Given the description of an element on the screen output the (x, y) to click on. 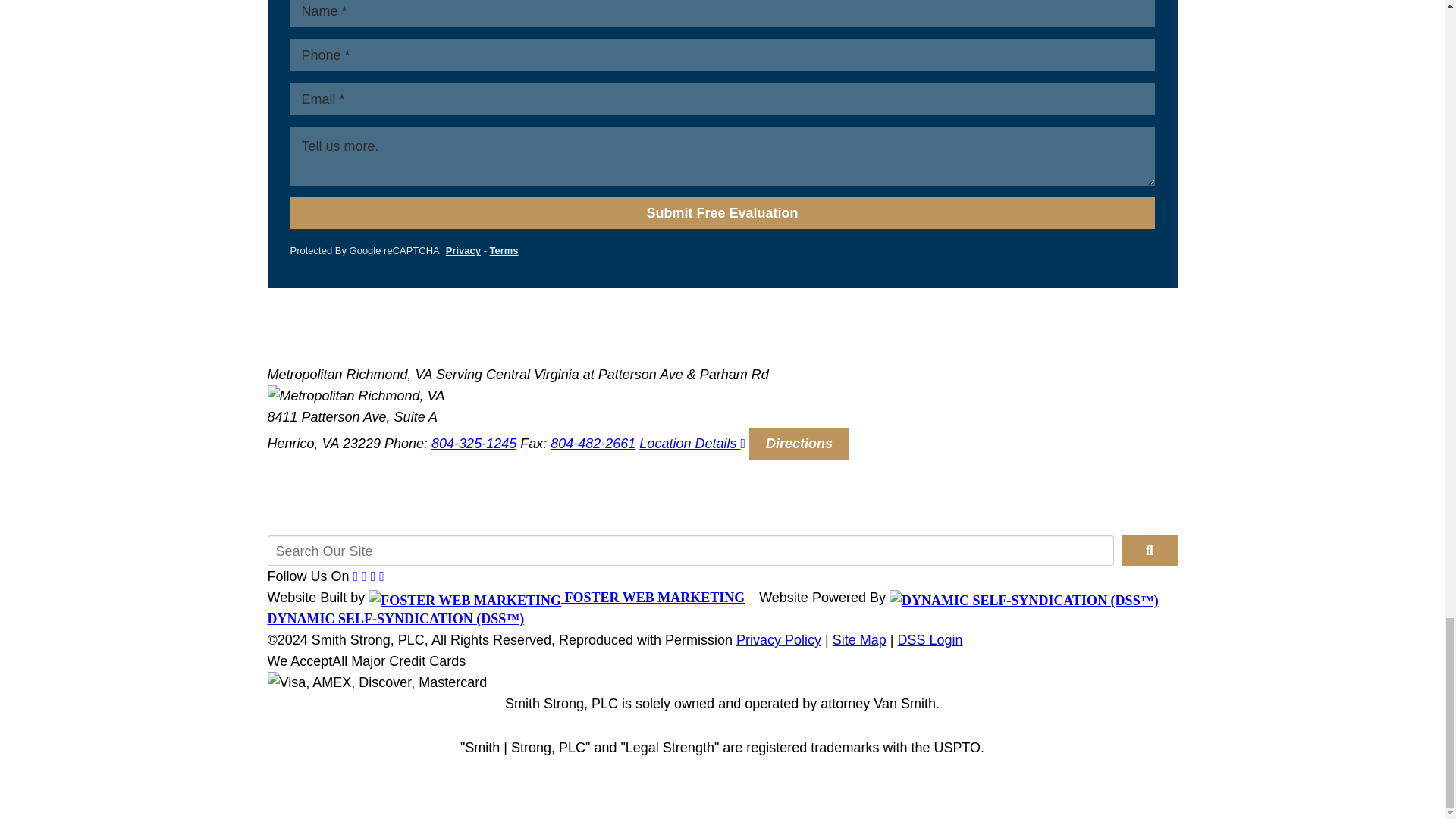
Facebook (355, 576)
Twitter (363, 576)
Instagram (381, 576)
Search (1148, 550)
YouTube (373, 576)
